Given the description of an element on the screen output the (x, y) to click on. 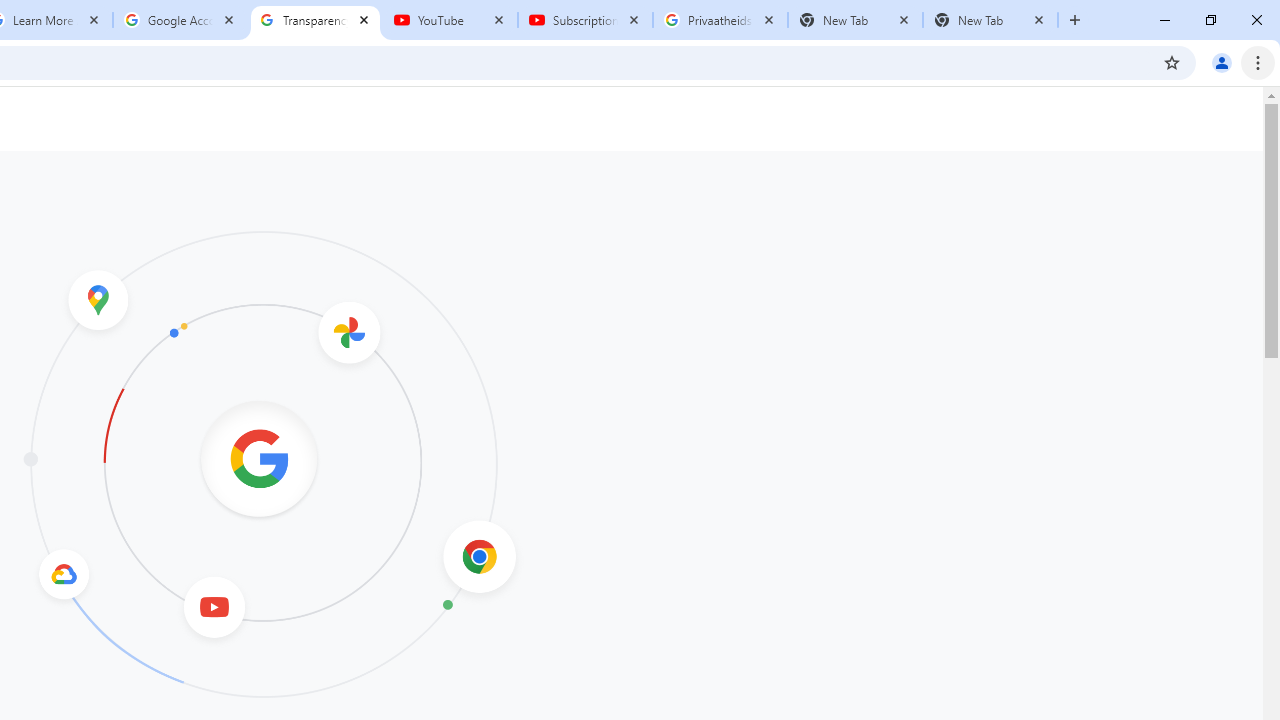
New Tab (990, 20)
Google Account (180, 20)
YouTube (450, 20)
Subscriptions - YouTube (585, 20)
